Given the description of an element on the screen output the (x, y) to click on. 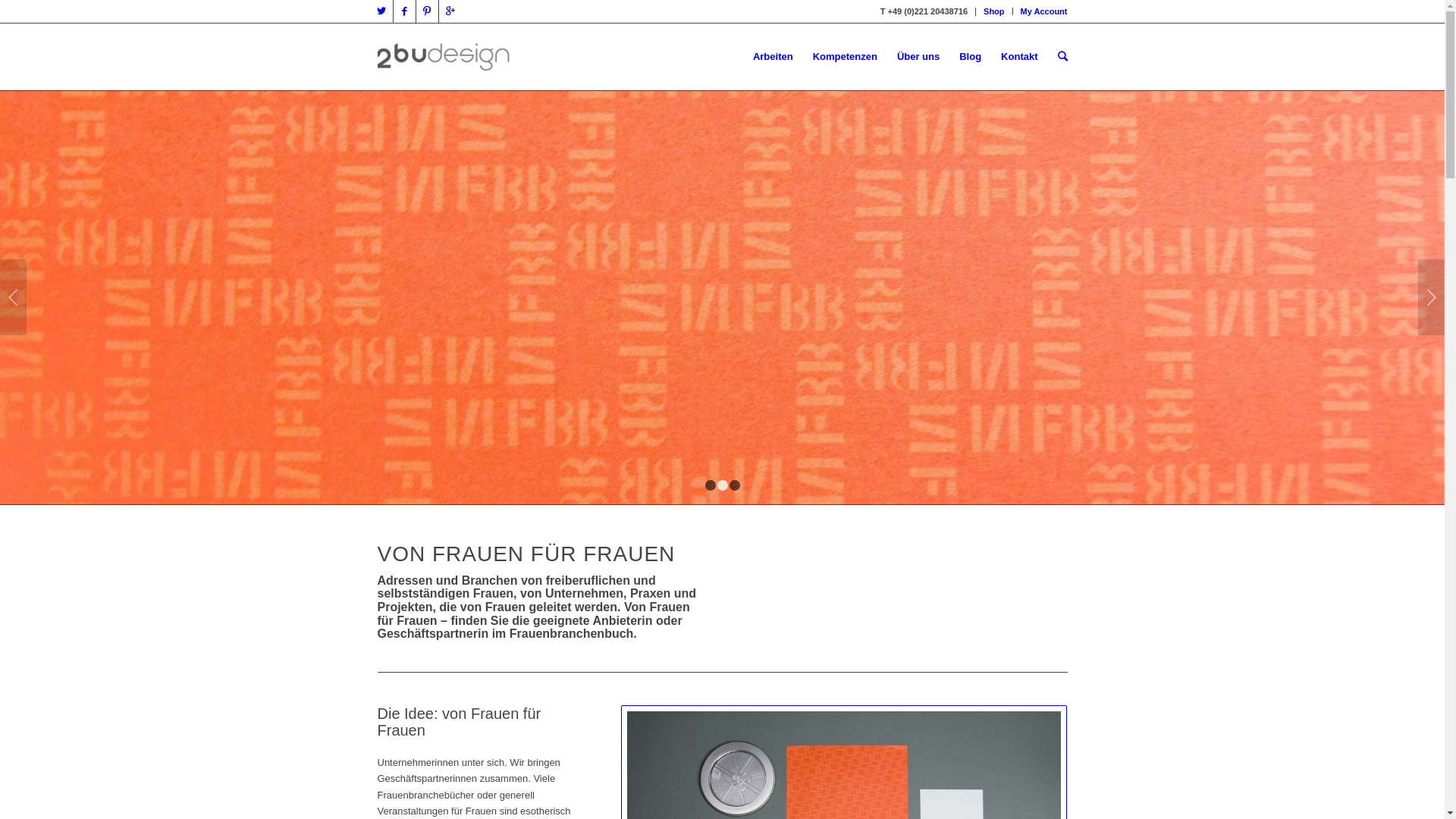
Weiter Element type: text (1431, 297)
My Account Element type: text (1043, 11)
1 Element type: text (710, 485)
_DSF4734_2841x1894_72 Element type: hover (722, 297)
Twitter Element type: hover (381, 11)
Kontakt Element type: text (1019, 56)
2 Element type: text (722, 485)
Gplus Element type: hover (449, 11)
Kompetenzen Element type: text (845, 56)
Blog Element type: text (970, 56)
Facebook Element type: hover (403, 11)
Shop Element type: text (993, 11)
Pinterest Element type: hover (426, 11)
3 Element type: text (734, 485)
Arbeiten Element type: text (773, 56)
